Given the description of an element on the screen output the (x, y) to click on. 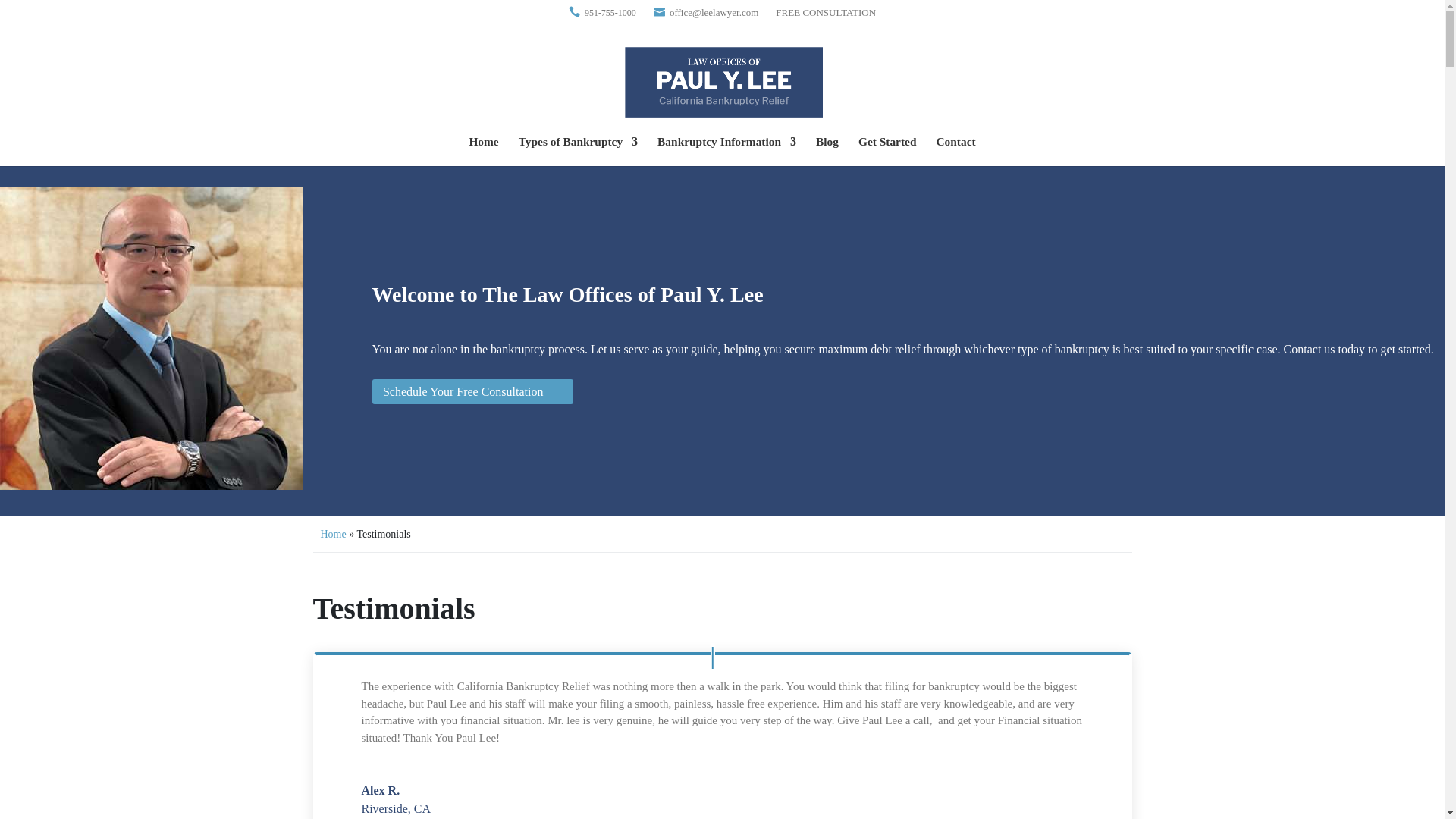
Bankruptcy Information (727, 149)
Free Consultation (826, 12)
Email (713, 12)
FREE CONSULTATION (826, 12)
Types of Bankruptcy (577, 149)
Schedule Your Free Consultation (472, 391)
Contact (955, 149)
Get Started (888, 149)
Home (482, 149)
